Given the description of an element on the screen output the (x, y) to click on. 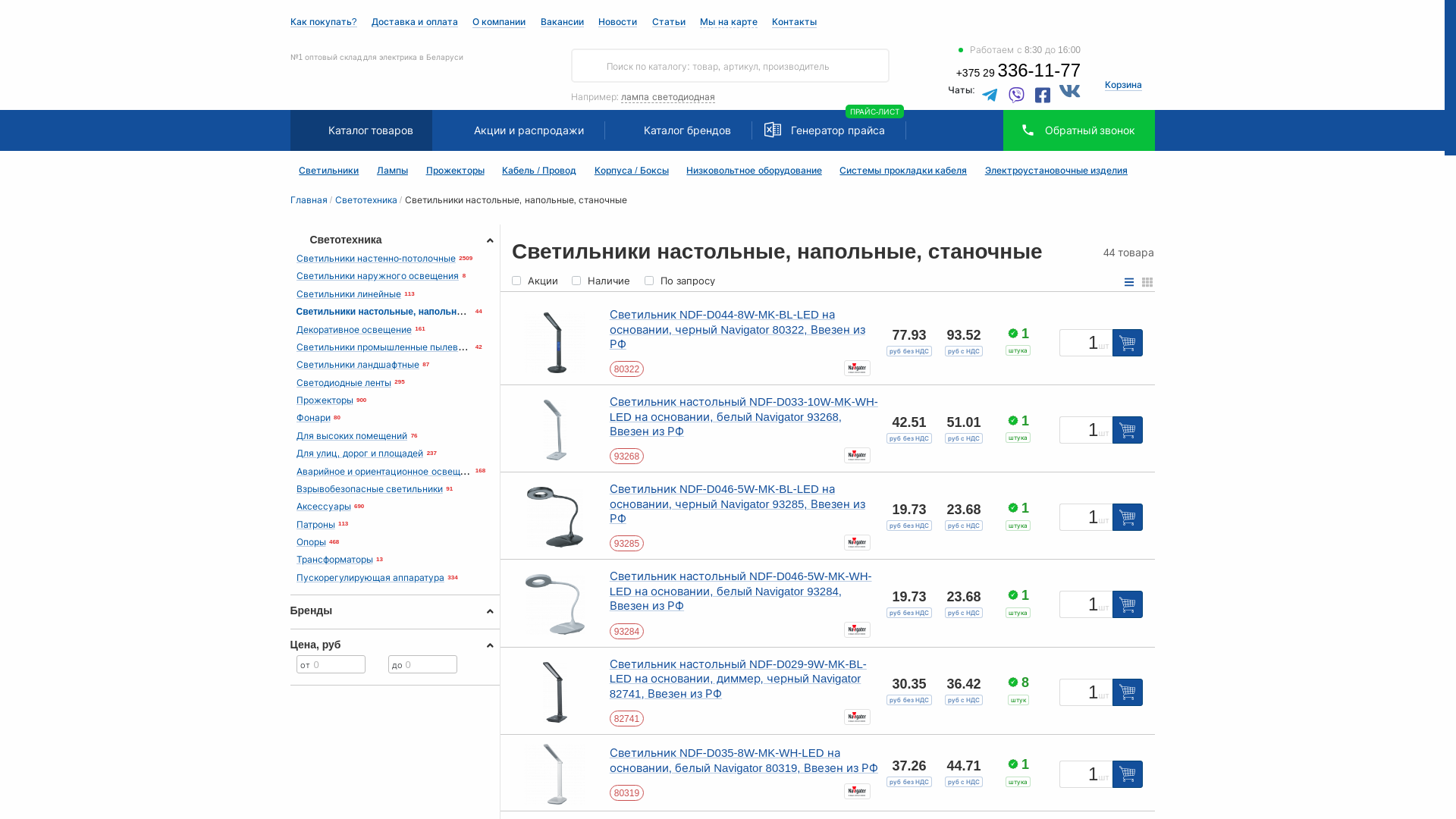
+375 29 336-11-77 Element type: text (1018, 72)
